Given the description of an element on the screen output the (x, y) to click on. 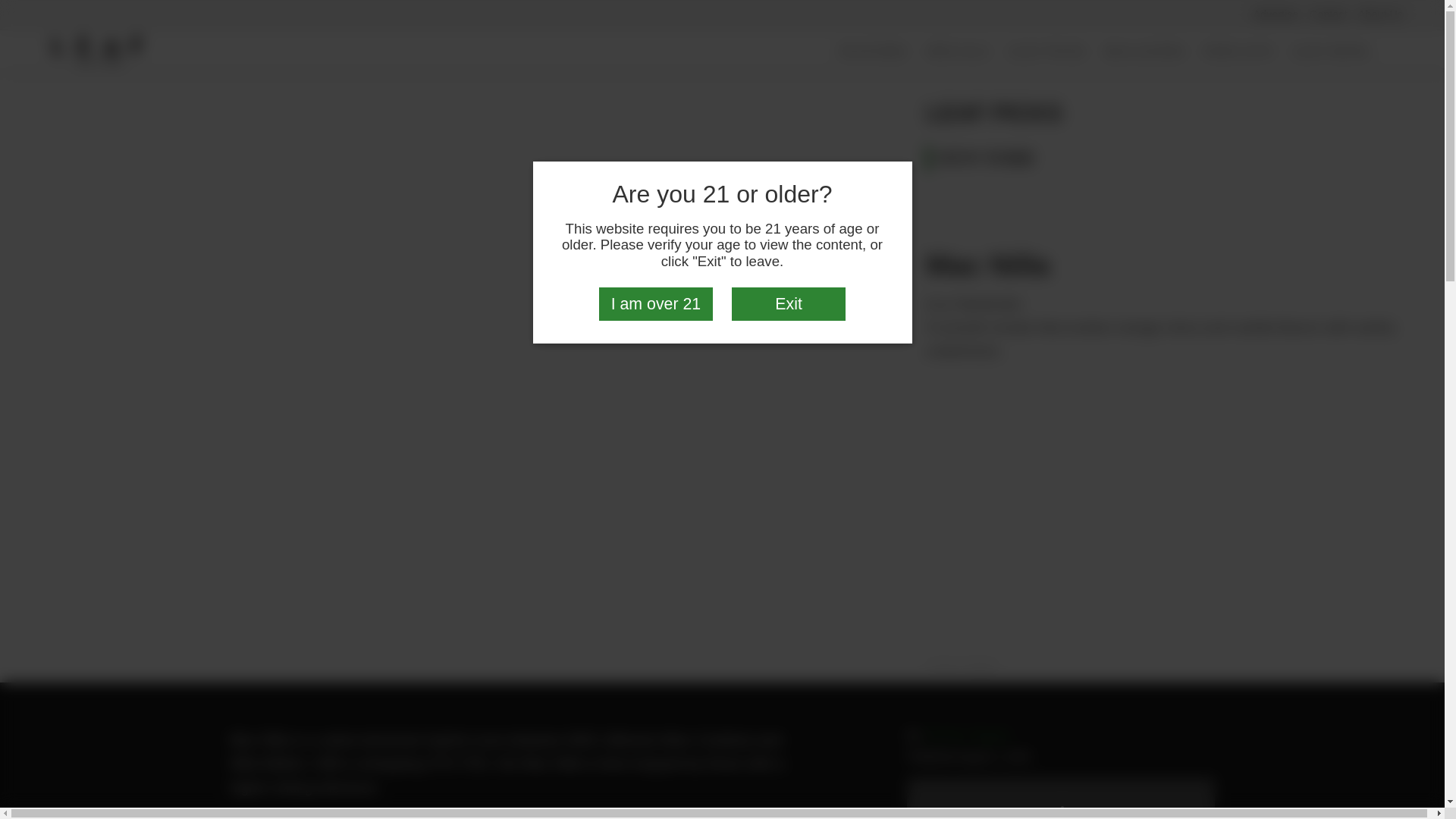
Advertise (1275, 14)
MAGAZINES (1145, 51)
About Us (1380, 14)
Charles Taggart (966, 735)
SPECIALS (957, 51)
Contact (1328, 14)
FEATURES (874, 51)
PODCASTS (1238, 51)
LEAF PICKS (1047, 51)
LEAF BOWL (1331, 51)
